Given the description of an element on the screen output the (x, y) to click on. 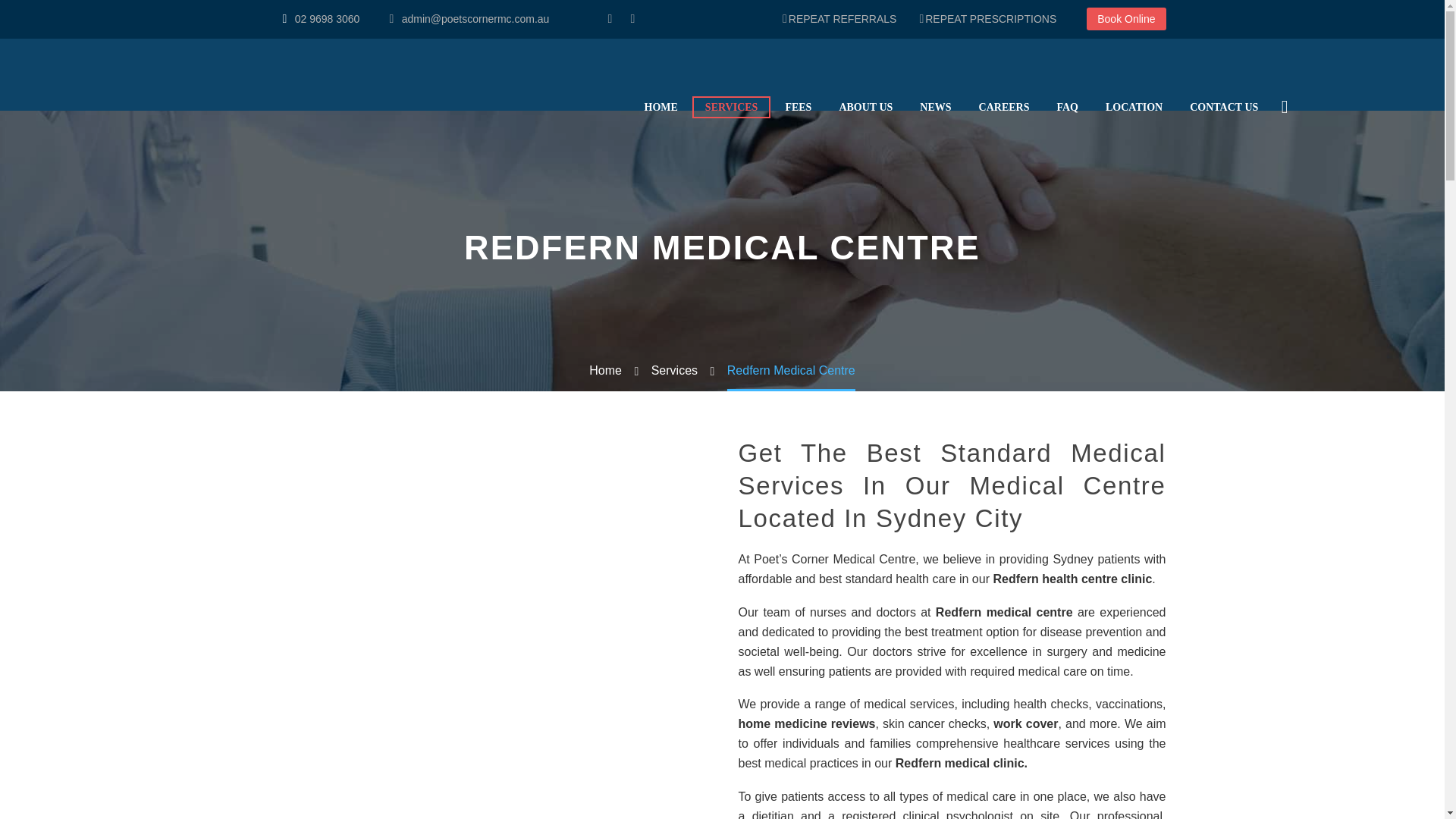
CAREERS (1004, 106)
SERVICES (732, 106)
Private Billing (492, 493)
FEES (797, 106)
Facebook (609, 19)
REPEAT REFERRALS (839, 18)
HOME (659, 106)
02 9698 3060 (327, 19)
REPEAT PRESCRIPTIONS (987, 18)
FAQ (1067, 106)
